Given the description of an element on the screen output the (x, y) to click on. 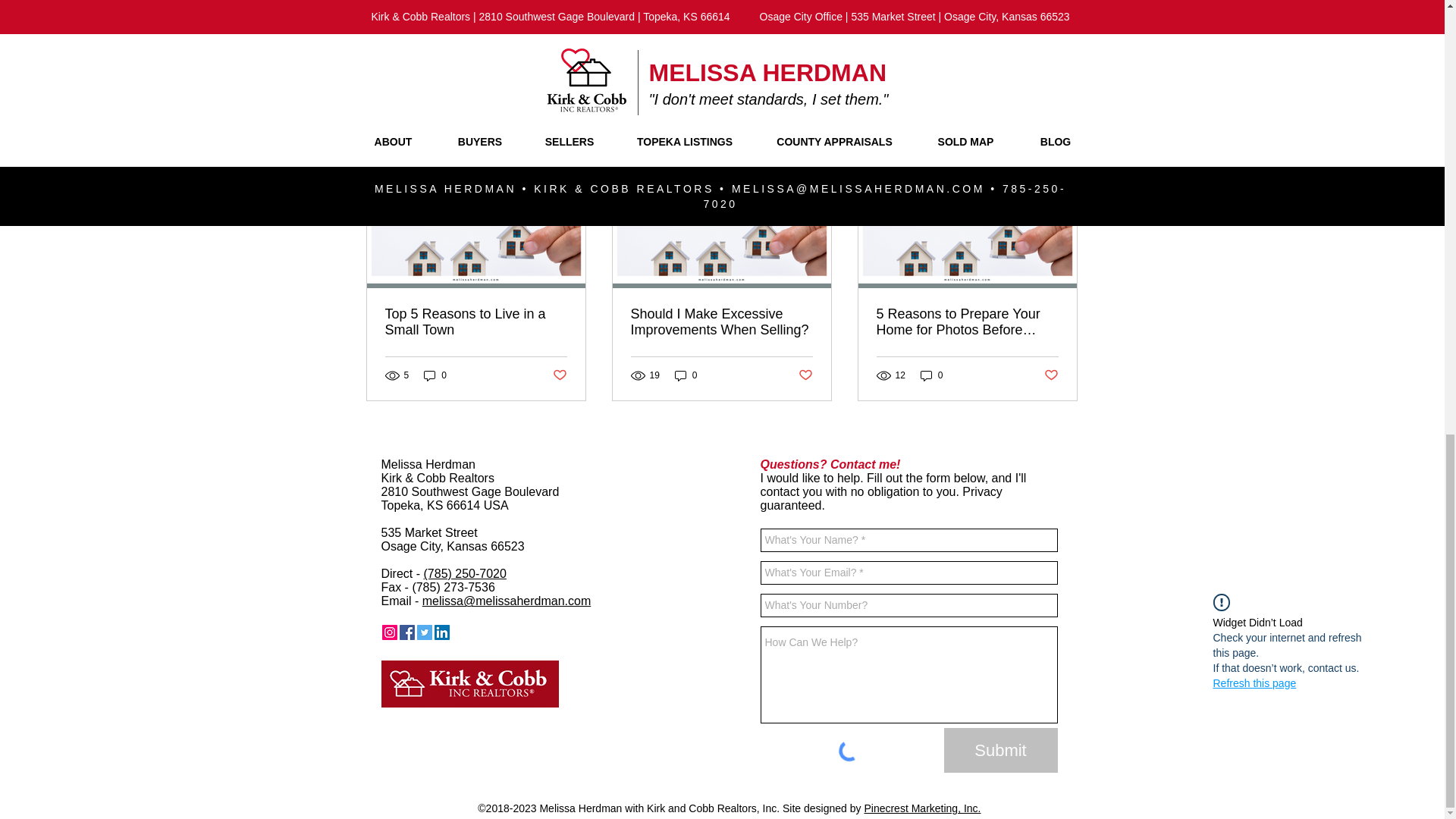
0 (435, 375)
See All (1061, 138)
Post not marked as liked (995, 55)
Pin to Pinterest (472, 631)
Top 5 Reasons to Live in a Small Town (476, 322)
